Given the description of an element on the screen output the (x, y) to click on. 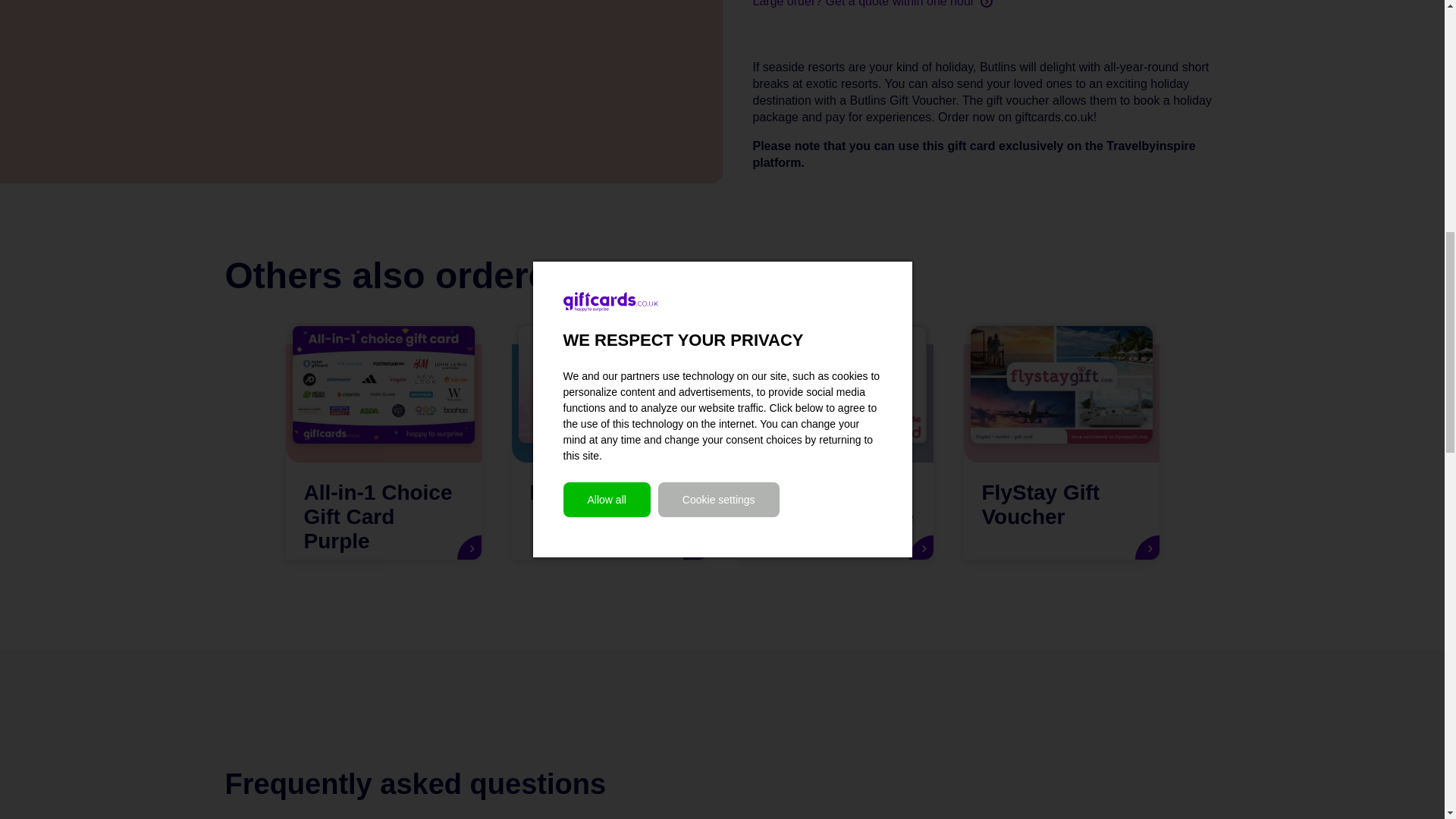
Large order? Get a quote within one hour (872, 4)
Disneyland Paris by Inspire (834, 451)
All-in-1 Choice Gift Card Purple (382, 451)
FlyStay Gift Voucher (1060, 451)
Hotel Gift Card (608, 451)
